Given the description of an element on the screen output the (x, y) to click on. 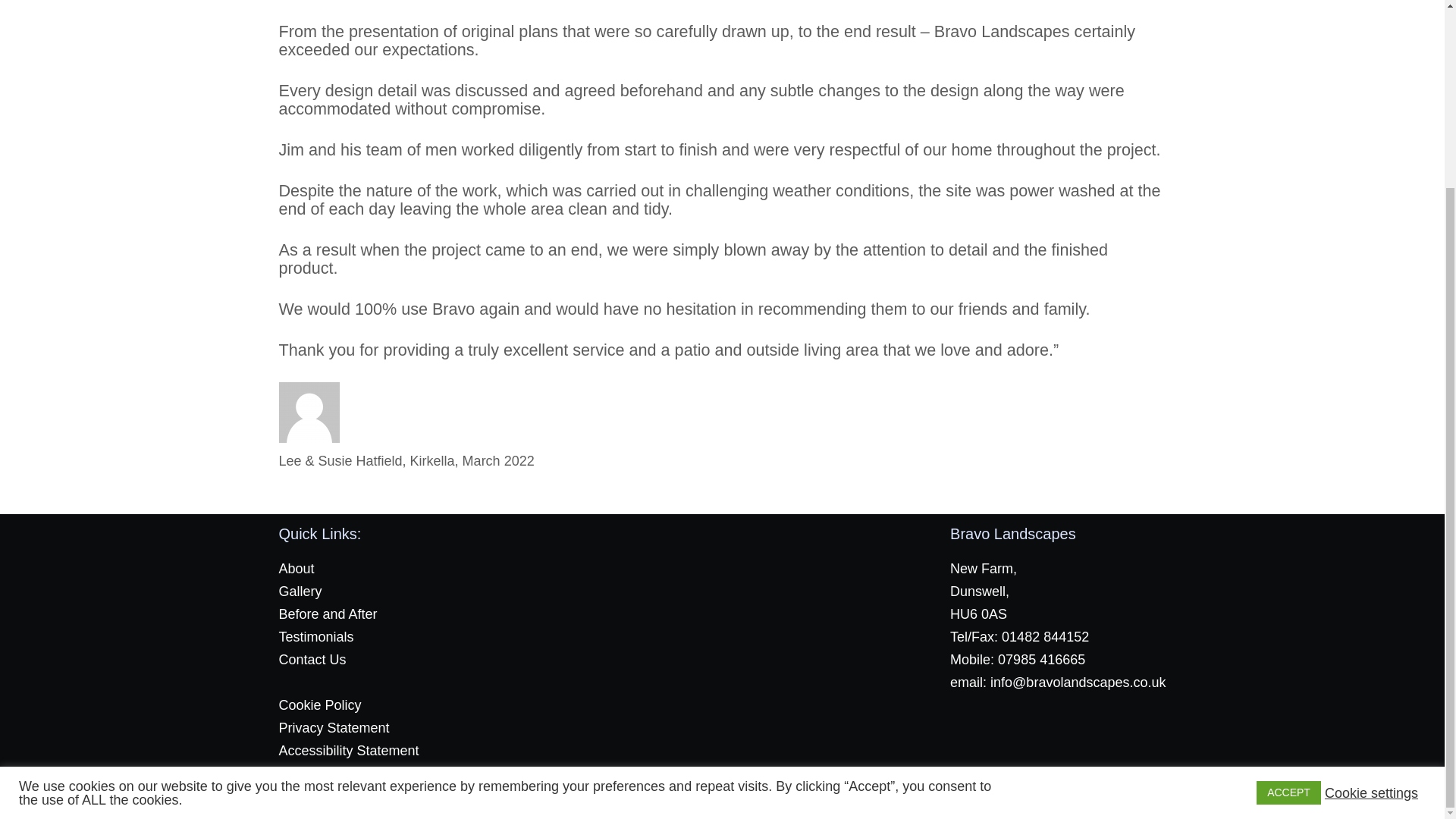
Testimonials (316, 636)
Indiesoft - Providing Value To Webdesign, build and hosting (751, 795)
About (296, 568)
Gallery (300, 590)
07985 416665 (1040, 659)
Before and After (328, 613)
Cookie Policy (320, 704)
Indiesoft Ltd (751, 795)
Accessibility Statement (349, 750)
Cookie settings (1371, 558)
